Given the description of an element on the screen output the (x, y) to click on. 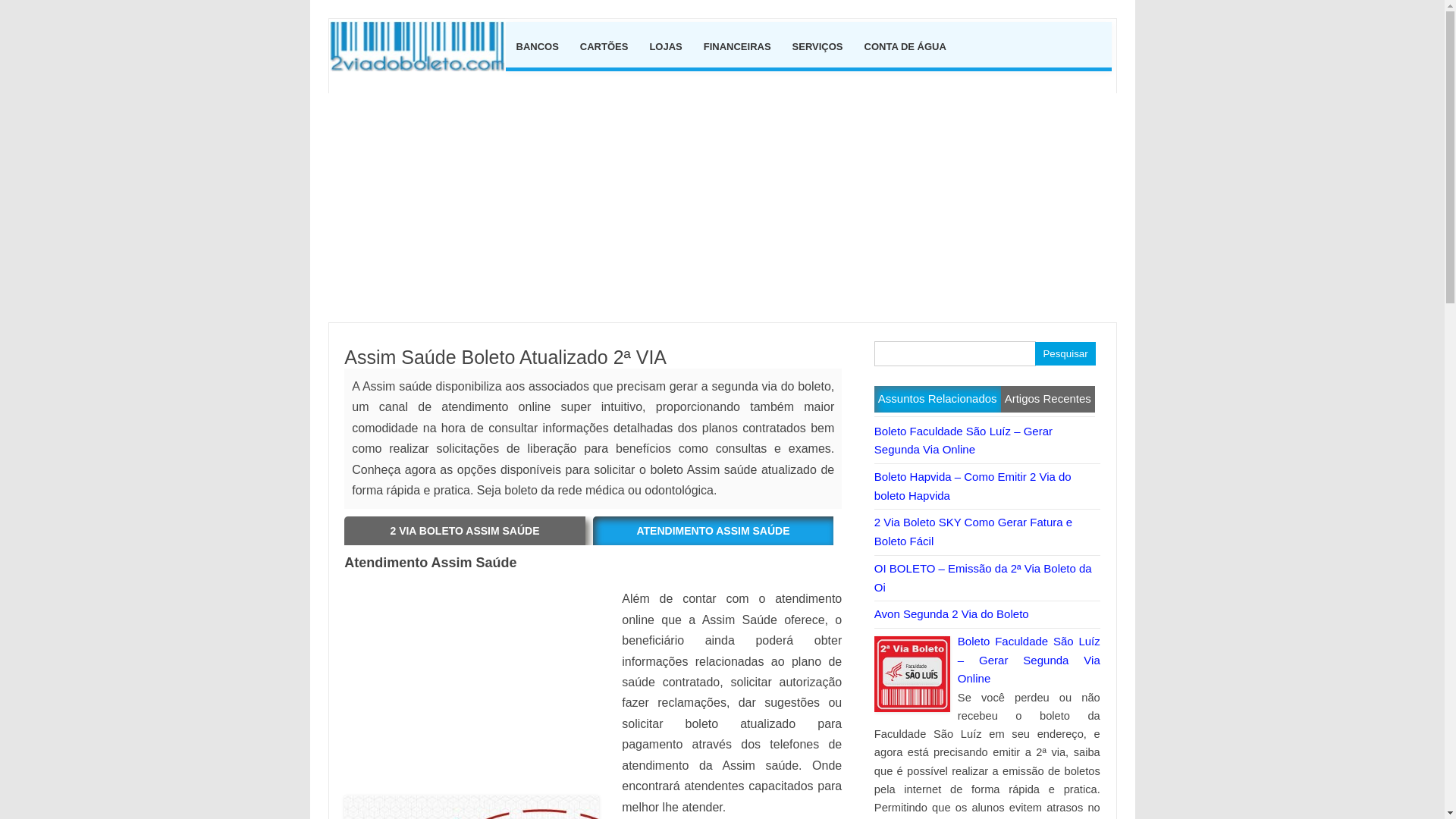
Advertisement Element type: hover (721, 199)
BANCOS Element type: text (536, 44)
2 Via do Boleto Element type: hover (422, 67)
Pesquisar Element type: text (1065, 353)
FINANCEIRAS Element type: text (737, 44)
Assuntos Relacionados Element type: text (937, 398)
Avon Segunda 2 Via do Boleto Element type: text (951, 613)
Advertisement Element type: hover (721, 314)
Advertisement Element type: hover (471, 687)
Artigos Recentes Element type: text (1048, 398)
LOJAS Element type: text (665, 44)
